Given the description of an element on the screen output the (x, y) to click on. 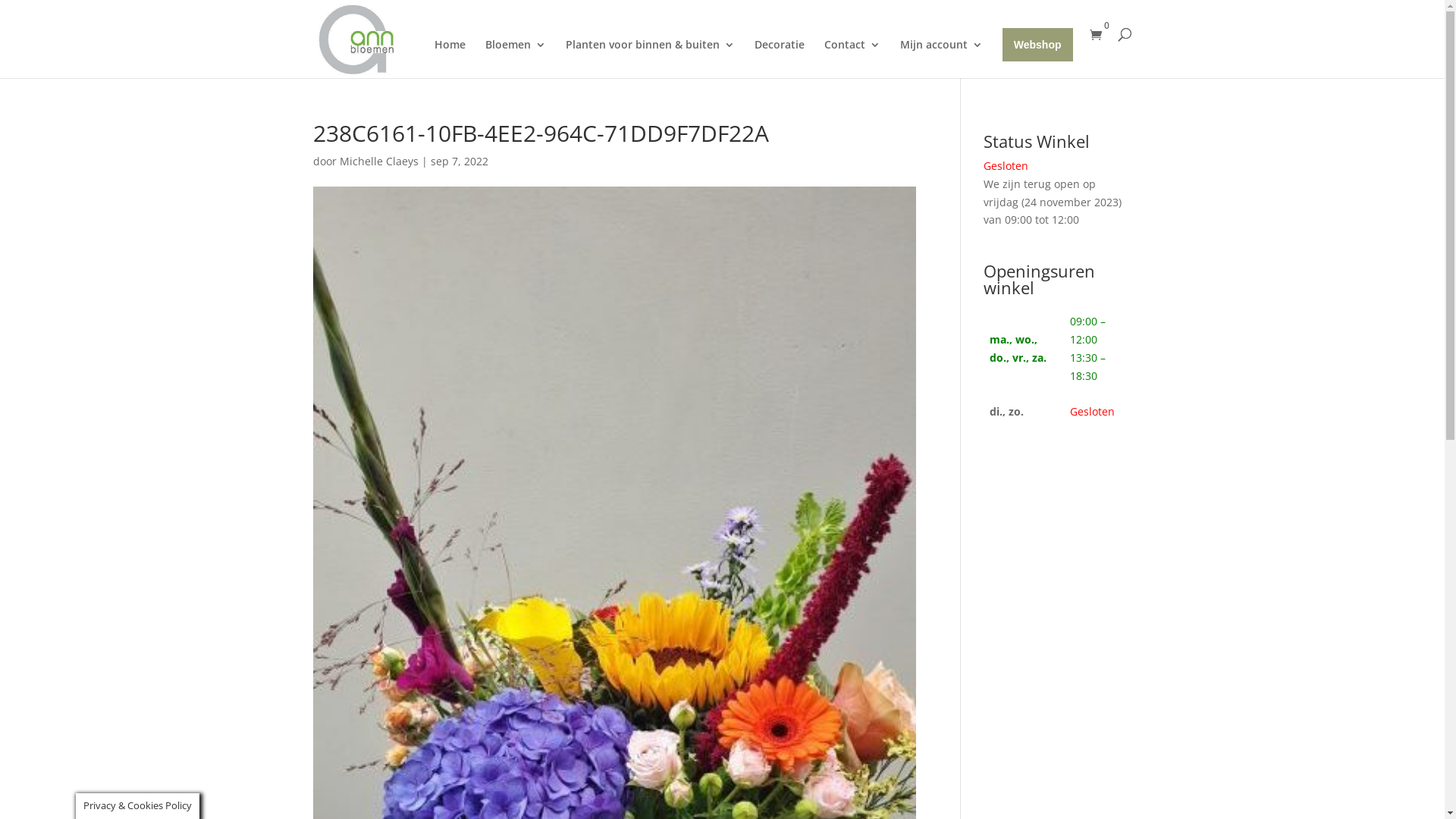
Mijn account Element type: text (941, 58)
Decoratie Element type: text (779, 58)
Home Element type: text (449, 58)
Michelle Claeys Element type: text (378, 160)
Planten voor binnen & buiten Element type: text (649, 58)
Bloemen Element type: text (515, 58)
Contact Element type: text (852, 58)
Webshop Element type: text (1037, 44)
